Given the description of an element on the screen output the (x, y) to click on. 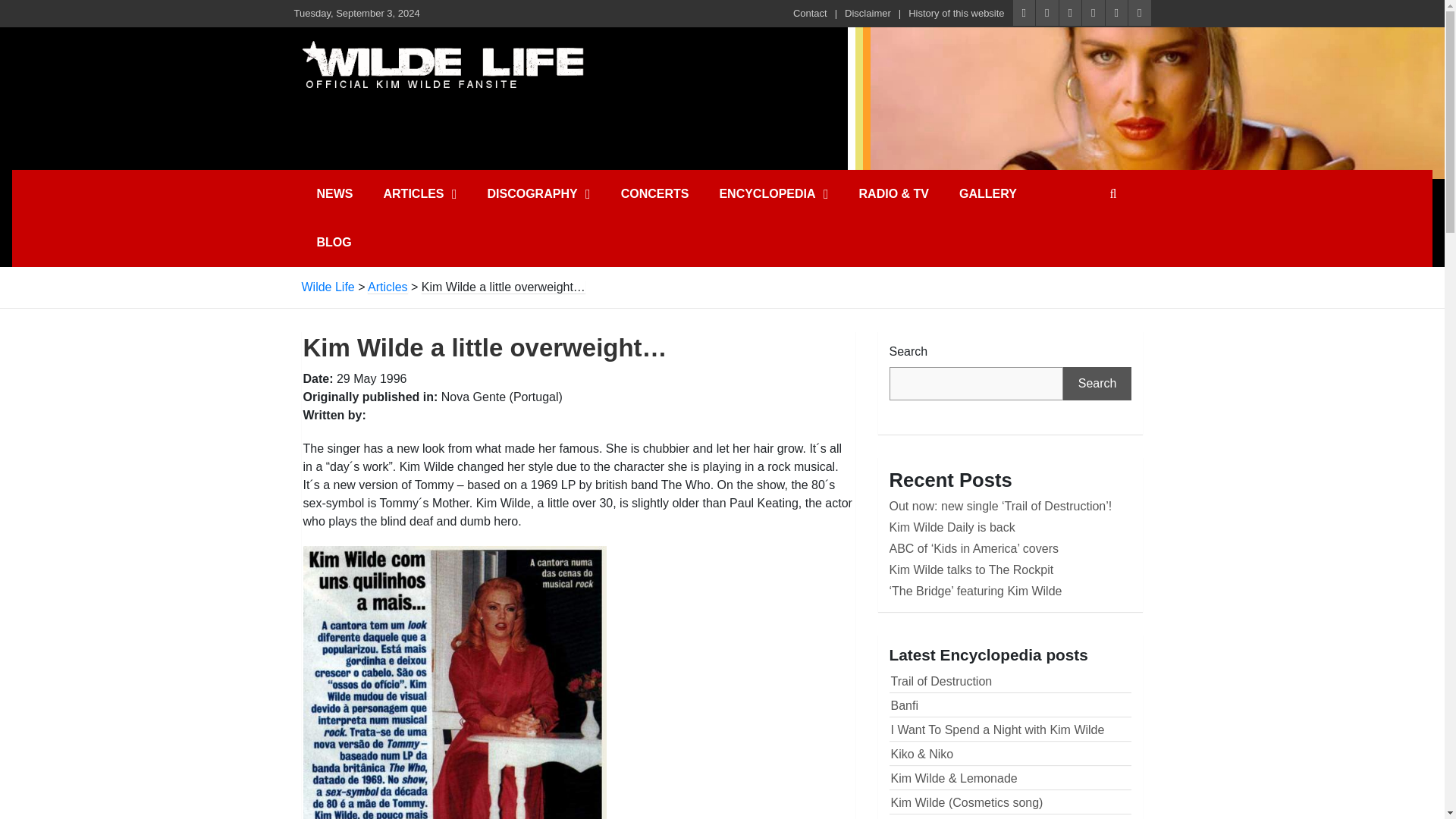
CONCERTS (654, 193)
History of this website (956, 13)
NEWS (334, 193)
Go to Articles. (387, 286)
Go to Wilde Life. (328, 286)
DISCOGRAPHY (538, 193)
Wilde Life (442, 62)
ENCYCLOPEDIA (773, 193)
Disclaimer (867, 13)
ARTICLES (419, 193)
